Given the description of an element on the screen output the (x, y) to click on. 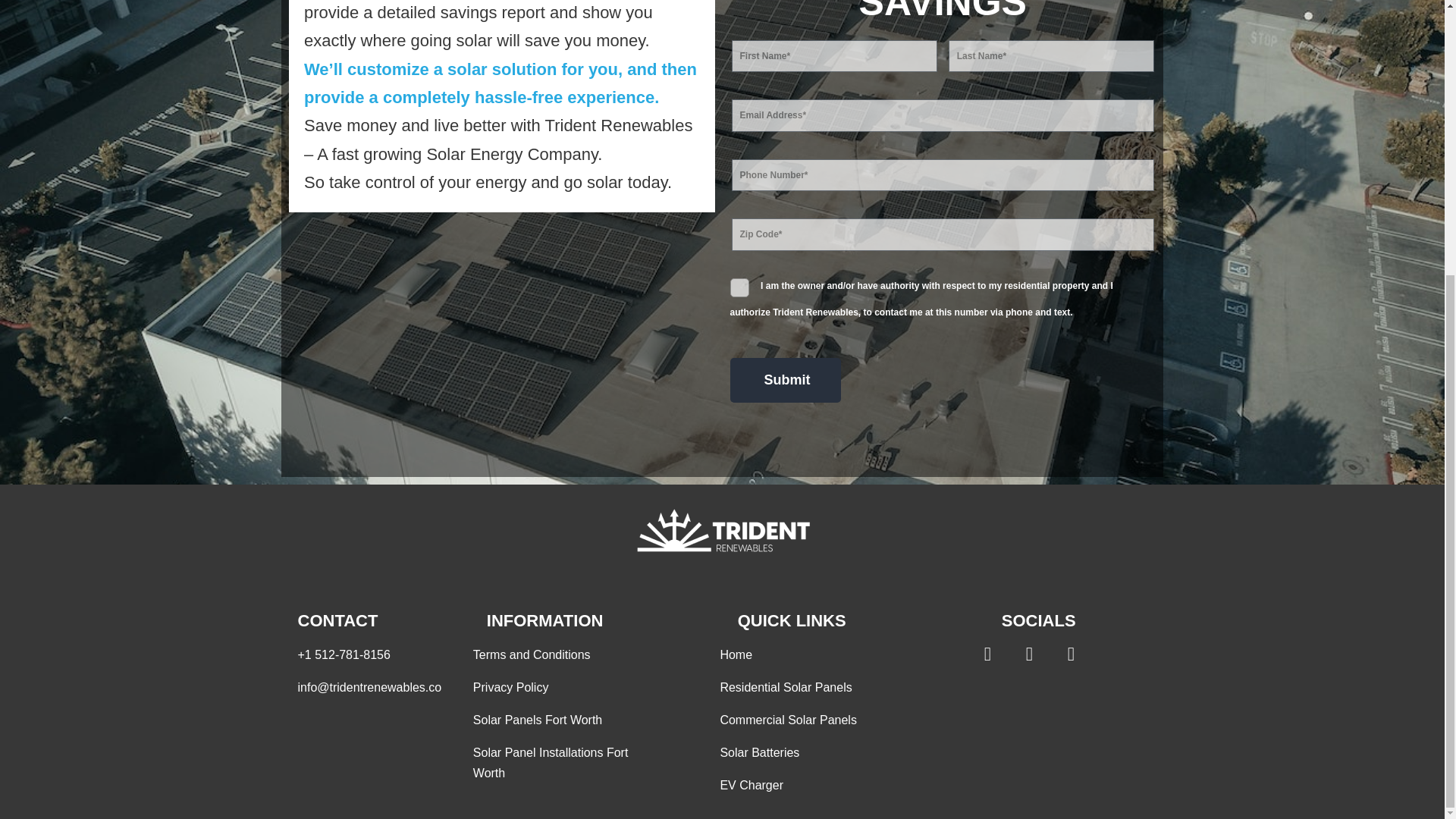
Home (809, 654)
Solar Batteries (809, 752)
Solar Panel Installations Fort Worth (563, 762)
Terms and Conditions (563, 654)
Residential Solar Panels (809, 687)
Solar Panels Fort Worth (563, 720)
Commercial Solar Panels (809, 720)
Submit (784, 379)
EV Charger (809, 784)
Privacy Policy (563, 687)
